Given the description of an element on the screen output the (x, y) to click on. 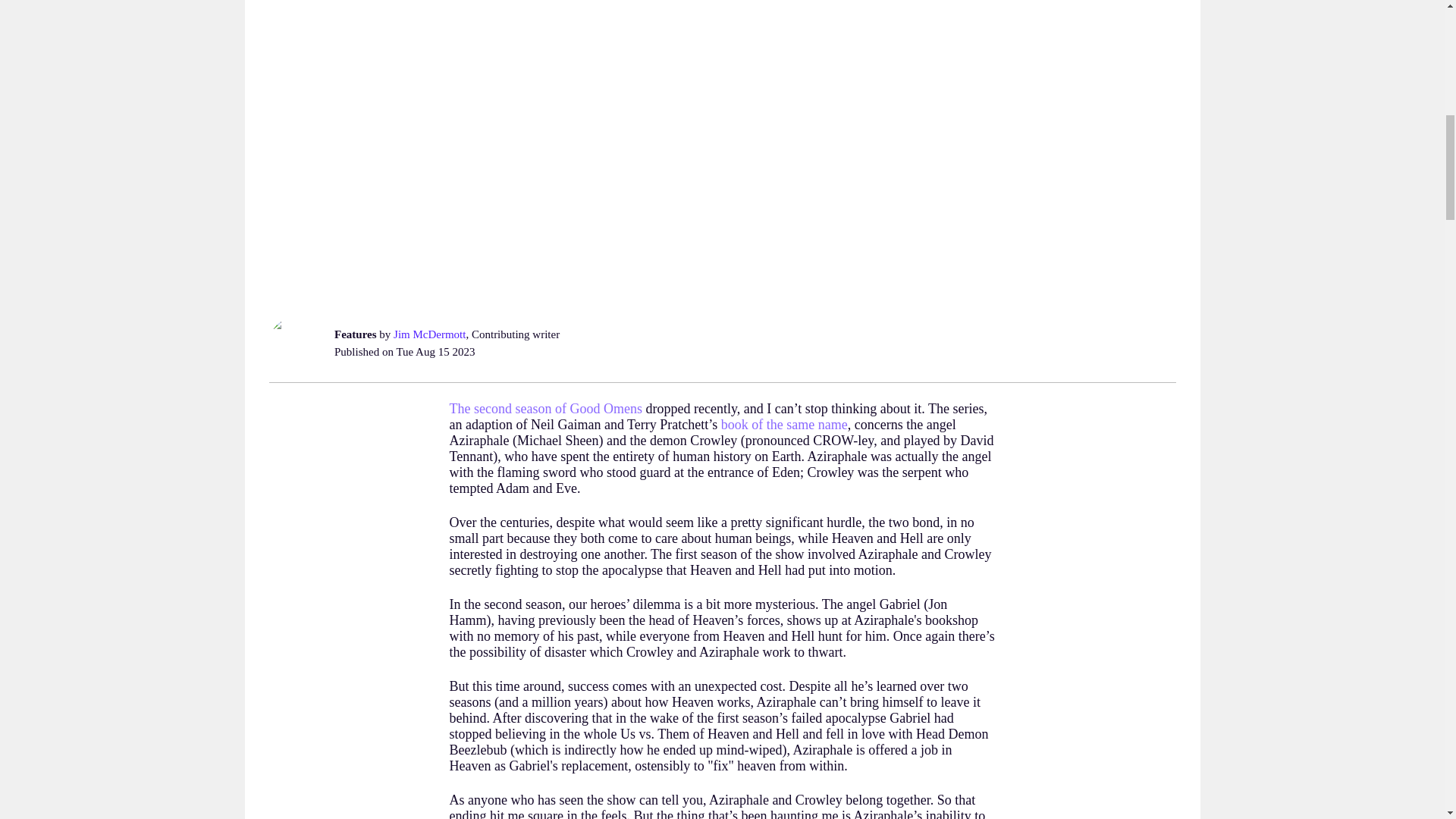
Jim McDermott (429, 334)
The second season of Good Omens (545, 408)
book of the same name (783, 424)
